Given the description of an element on the screen output the (x, y) to click on. 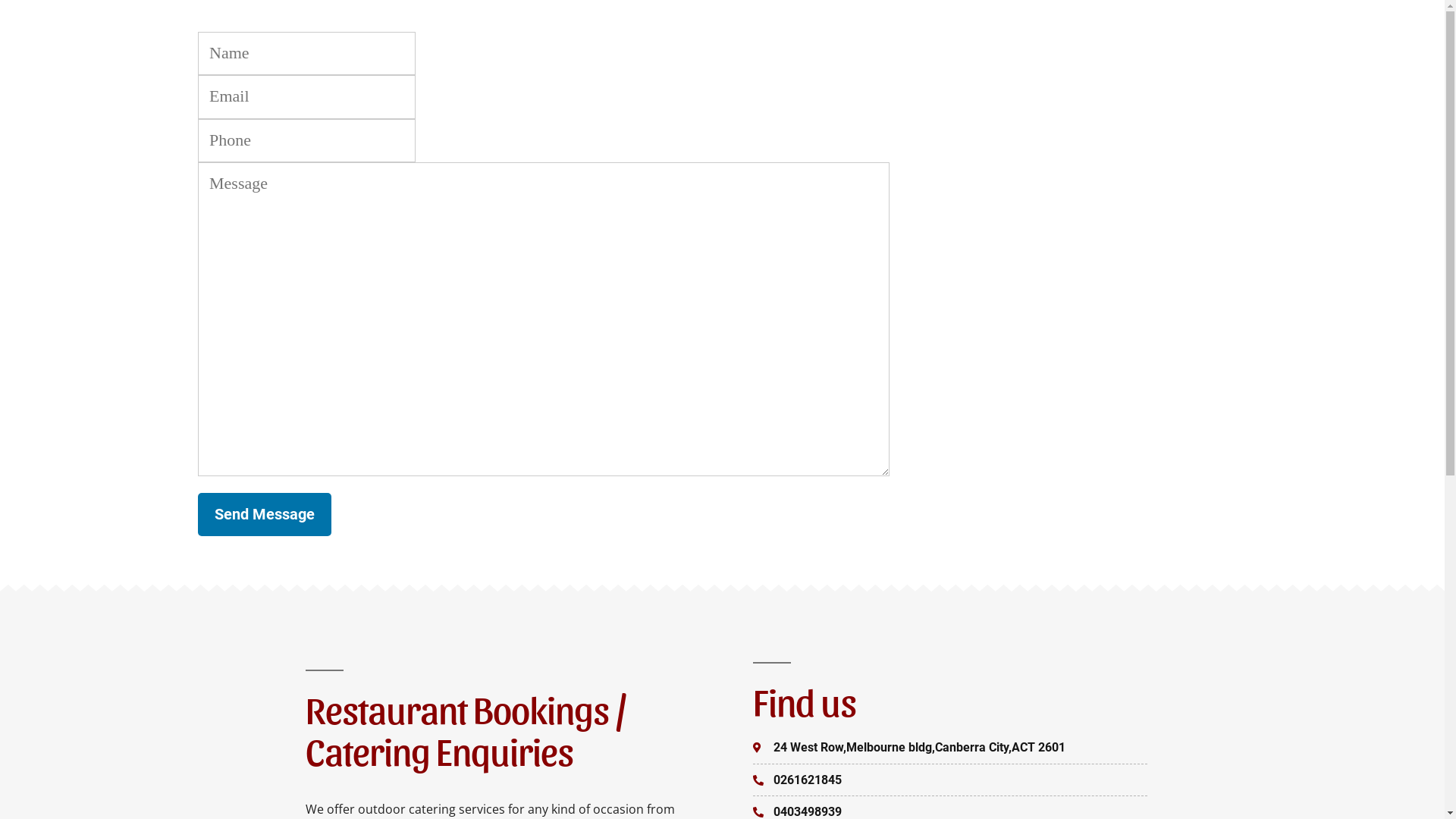
24 West Row,Melbourne bldg,Canberra City,ACT 2601 Element type: text (949, 748)
Send Message Element type: text (263, 514)
0261621845 Element type: text (949, 780)
